Given the description of an element on the screen output the (x, y) to click on. 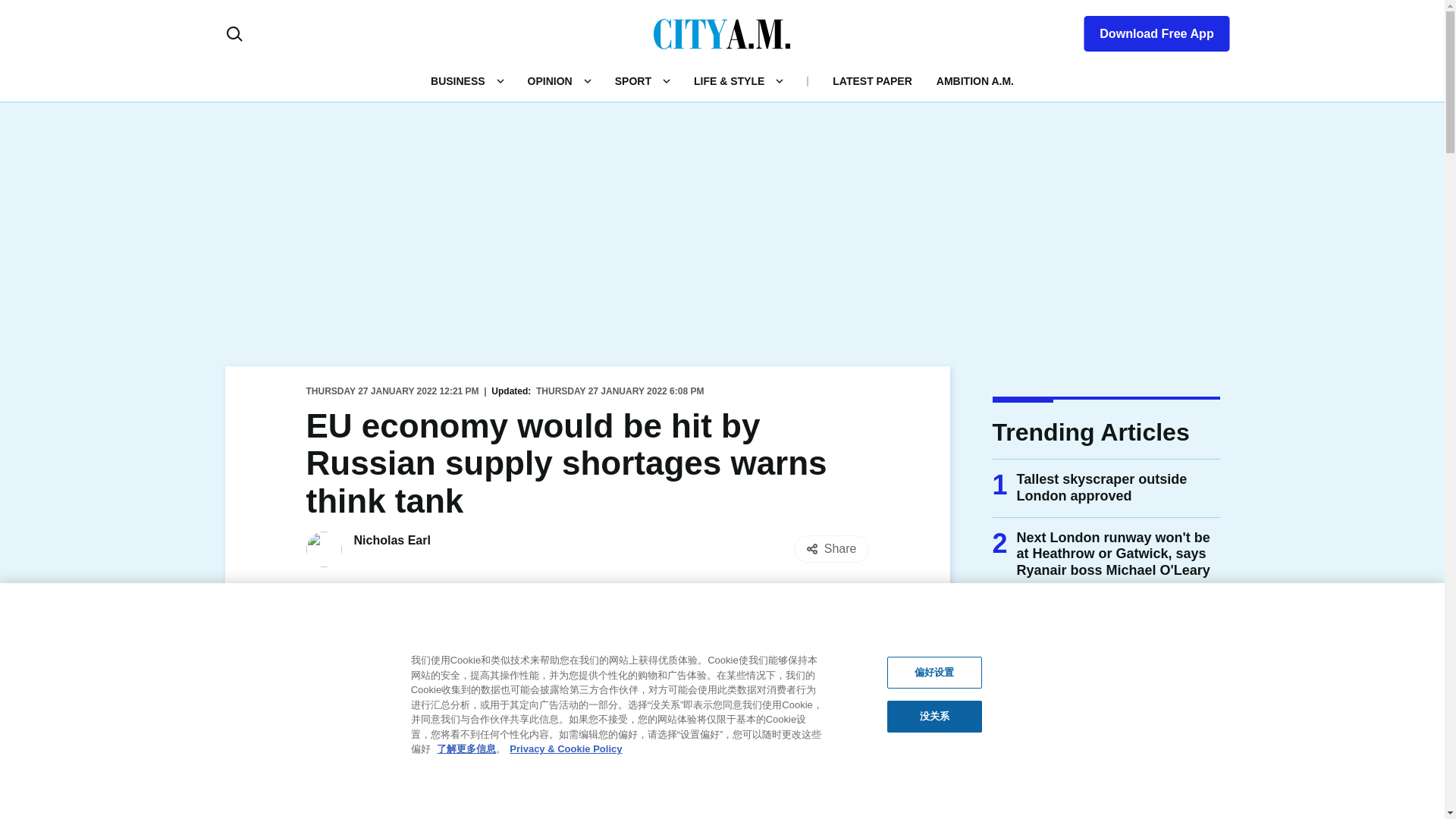
SPORT (632, 80)
CityAM (721, 33)
BUSINESS (457, 80)
Download Free App (1146, 30)
OPINION (549, 80)
